Given the description of an element on the screen output the (x, y) to click on. 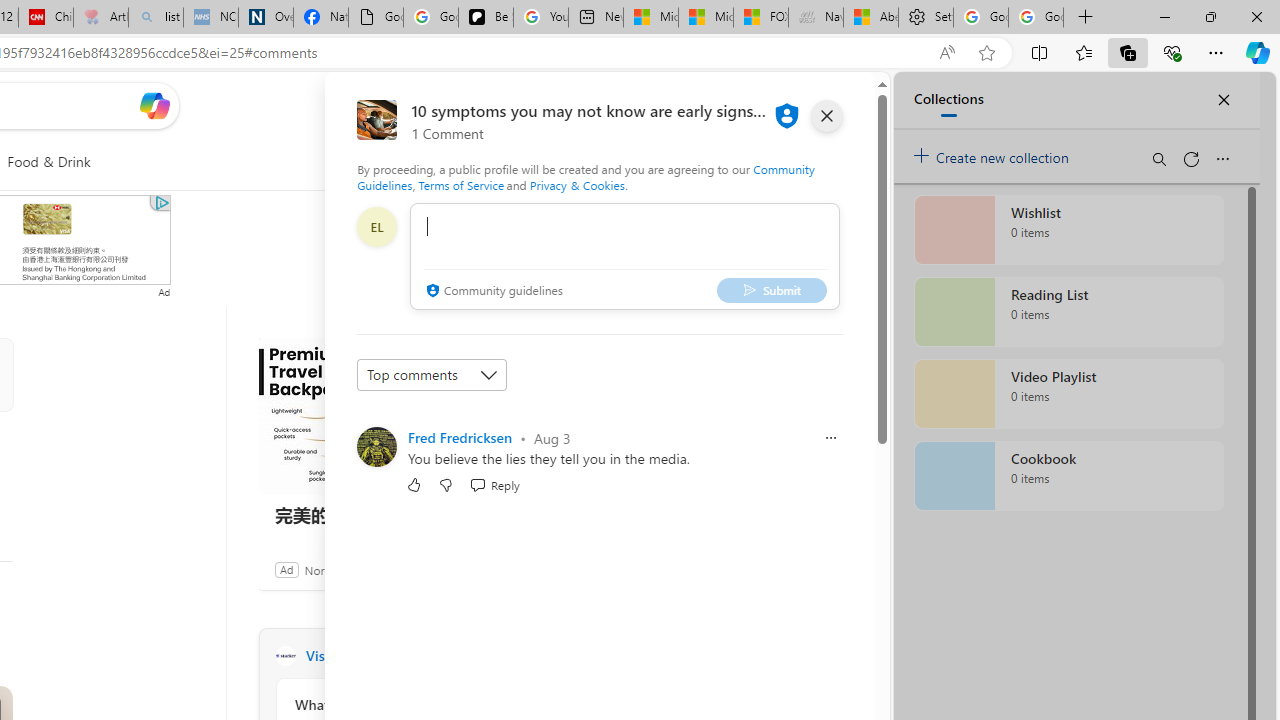
close (827, 115)
